Given the description of an element on the screen output the (x, y) to click on. 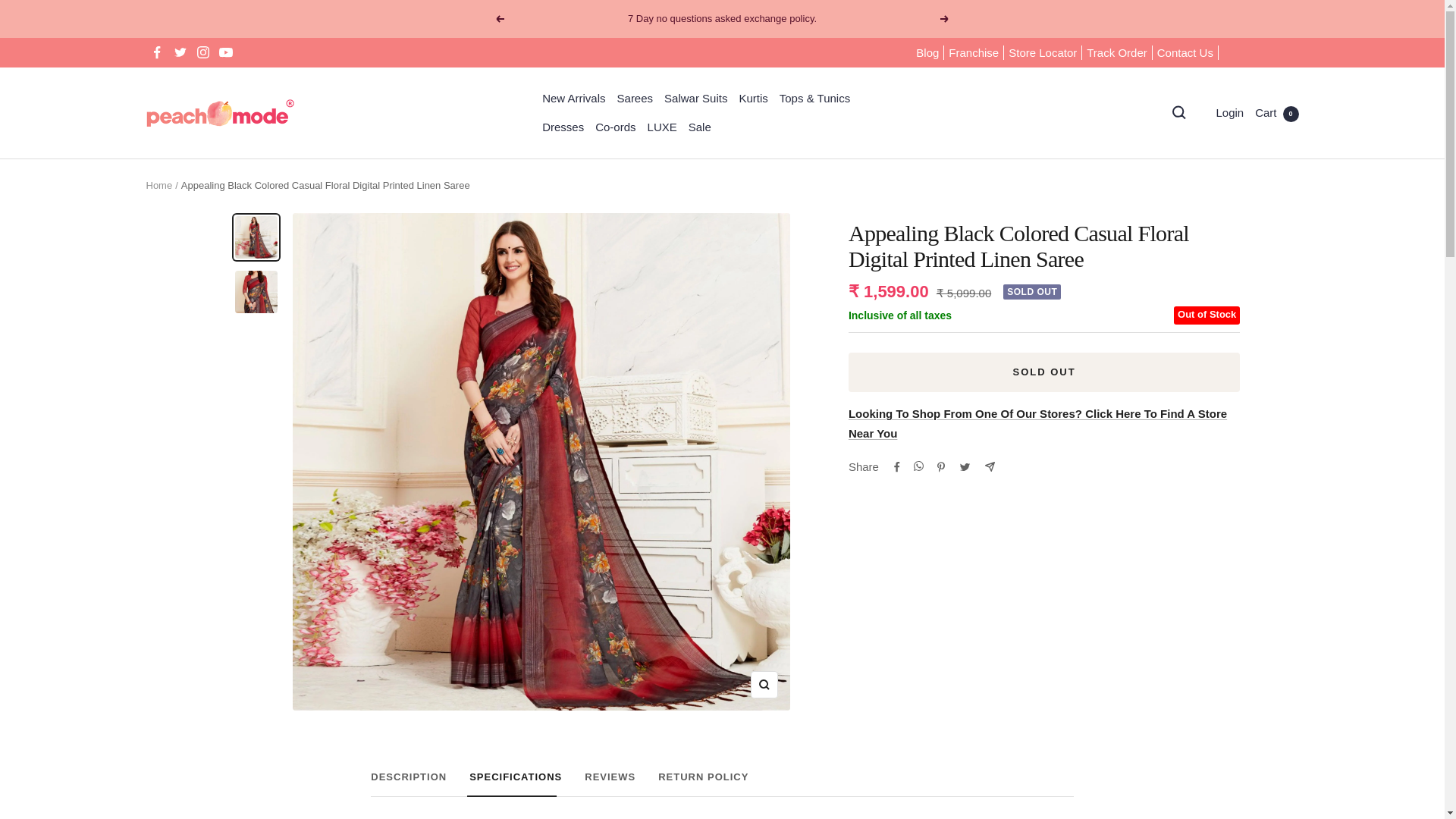
Next (944, 18)
Store Locator (1042, 52)
IN (1201, 379)
BE (1201, 154)
CA (1201, 179)
PT (1201, 680)
IL (1201, 429)
FJ (1201, 254)
DE (1201, 329)
QA (1201, 704)
SA (722, 783)
DK (1201, 730)
MY (1201, 229)
Contact Us (1201, 529)
